Given the description of an element on the screen output the (x, y) to click on. 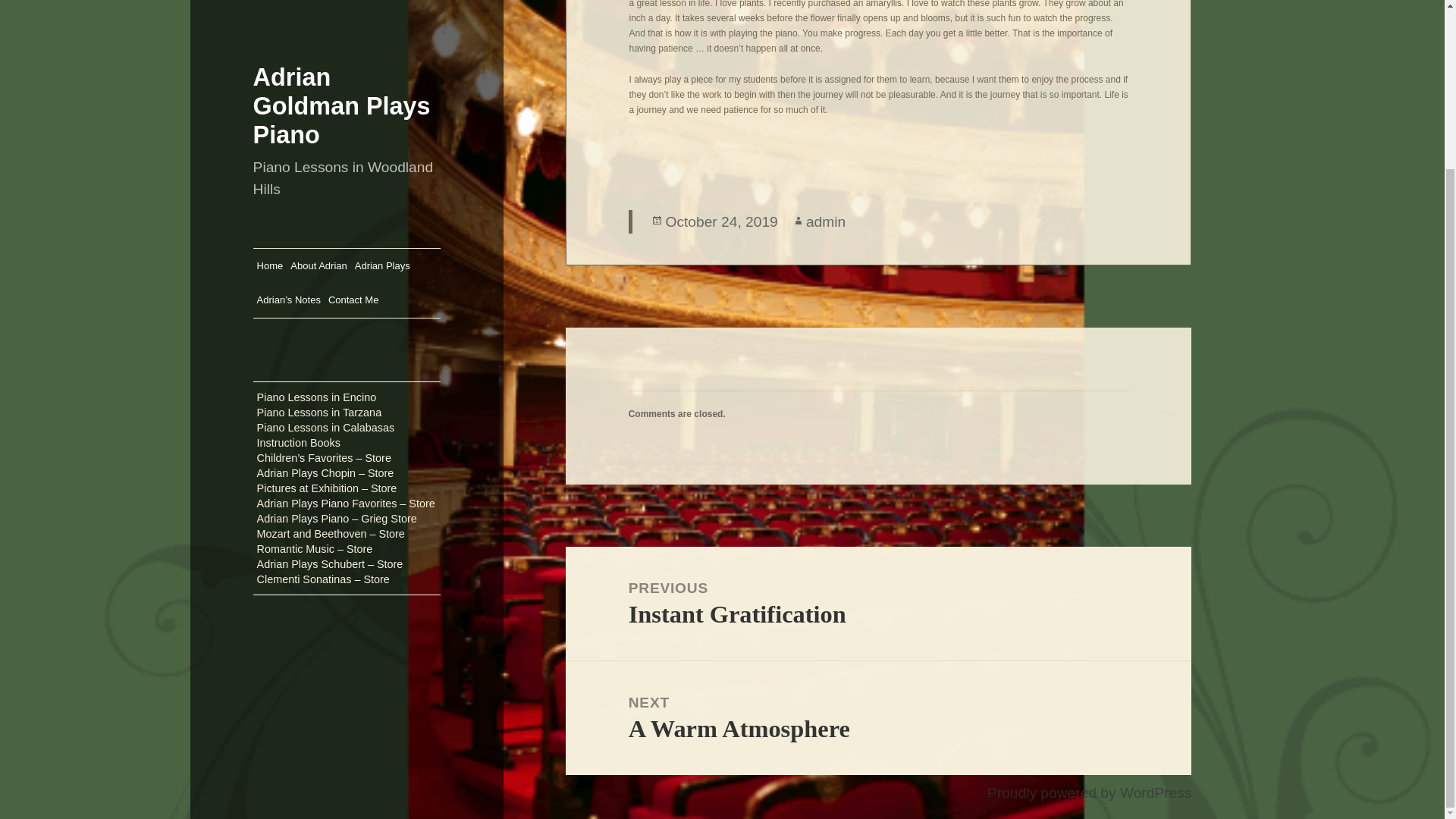
Instruction Books (298, 240)
Proudly powered by WordPress (1089, 792)
Adrian Plays (878, 603)
admin (381, 63)
Piano Lessons in Tarzana (825, 221)
Piano Lessons in Calabasas (319, 210)
About Adrian (325, 225)
October 24, 2019 (318, 63)
